Given the description of an element on the screen output the (x, y) to click on. 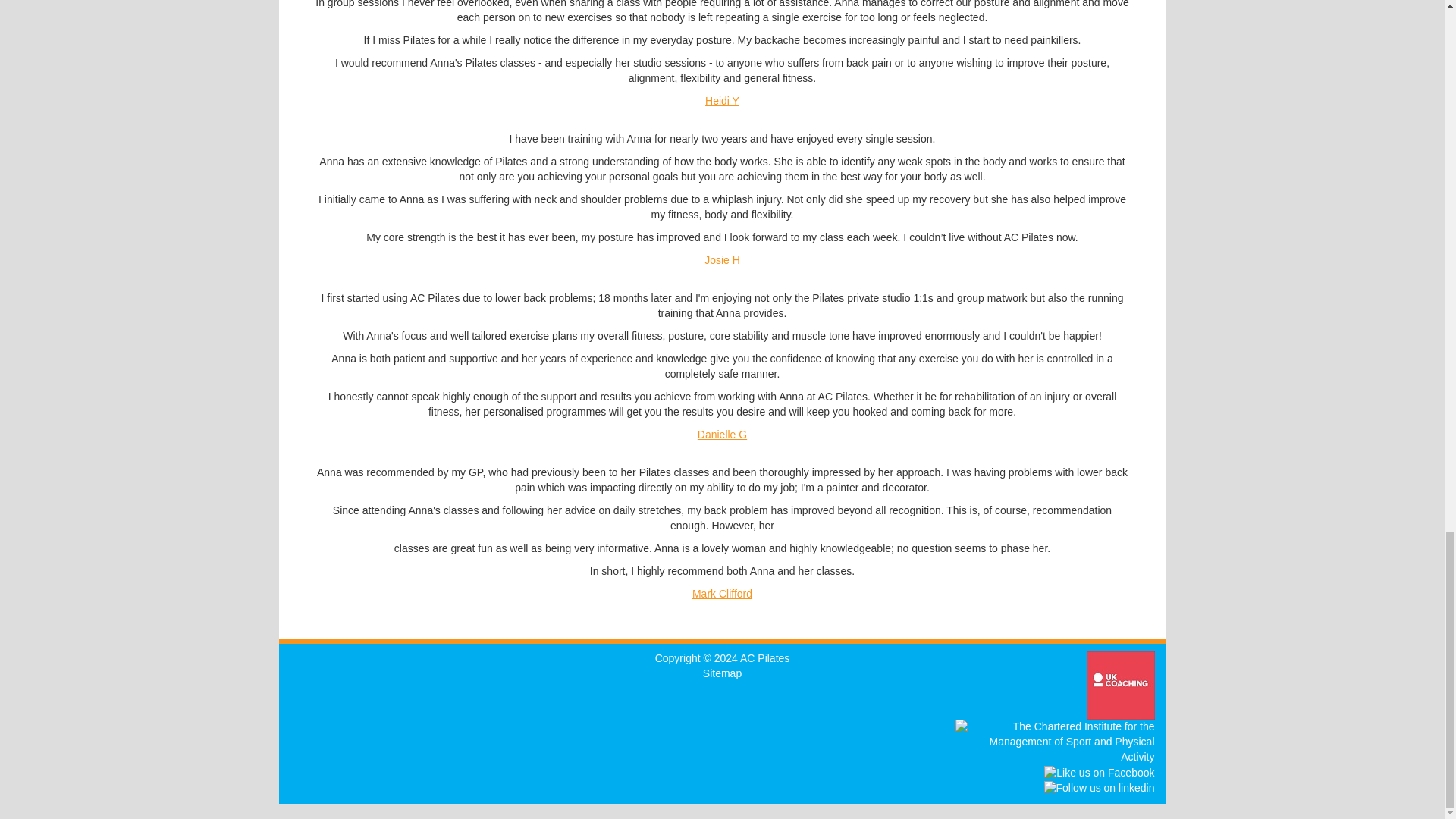
AC Pilates (764, 657)
UK Coaching Insured (1120, 685)
Sitemap (722, 673)
Like us on Facebook (1098, 773)
Follow us on linkedin (1098, 788)
